Given the description of an element on the screen output the (x, y) to click on. 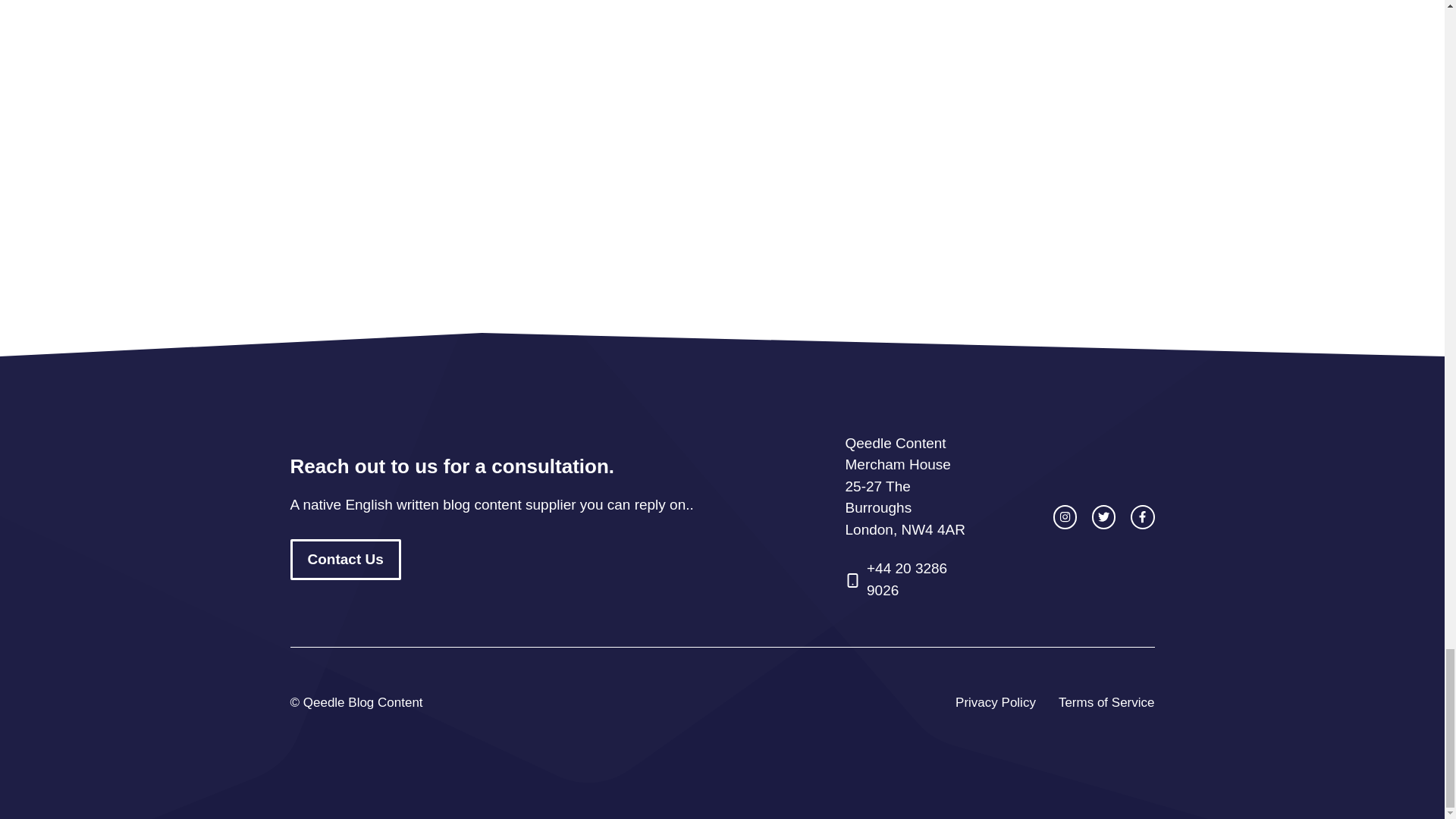
Comment Form (722, 114)
Privacy Policy (995, 702)
Terms of Service (1106, 702)
Contact Us (344, 559)
